Given the description of an element on the screen output the (x, y) to click on. 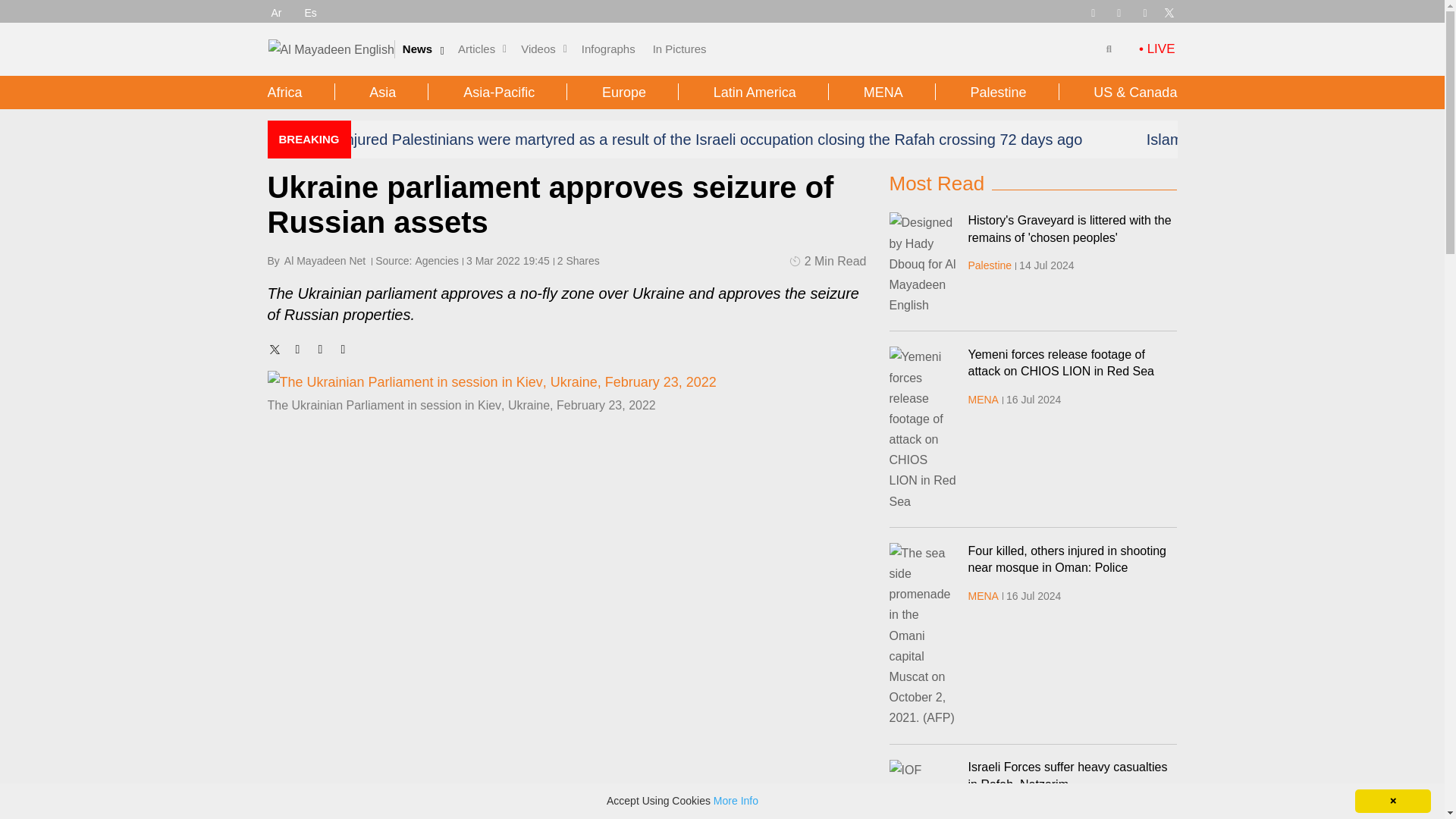
IOF suffers heavy casualties in Rafah, Netzarim (922, 789)
Facebook (1118, 11)
Telegram (1092, 11)
Instagram (1144, 11)
Videos (538, 48)
MENA (982, 595)
Es (310, 12)
Infographs (607, 48)
News (417, 48)
In Pictures (679, 48)
Palestine (989, 811)
Articles (476, 48)
MENA (982, 399)
Palestine (989, 265)
